Given the description of an element on the screen output the (x, y) to click on. 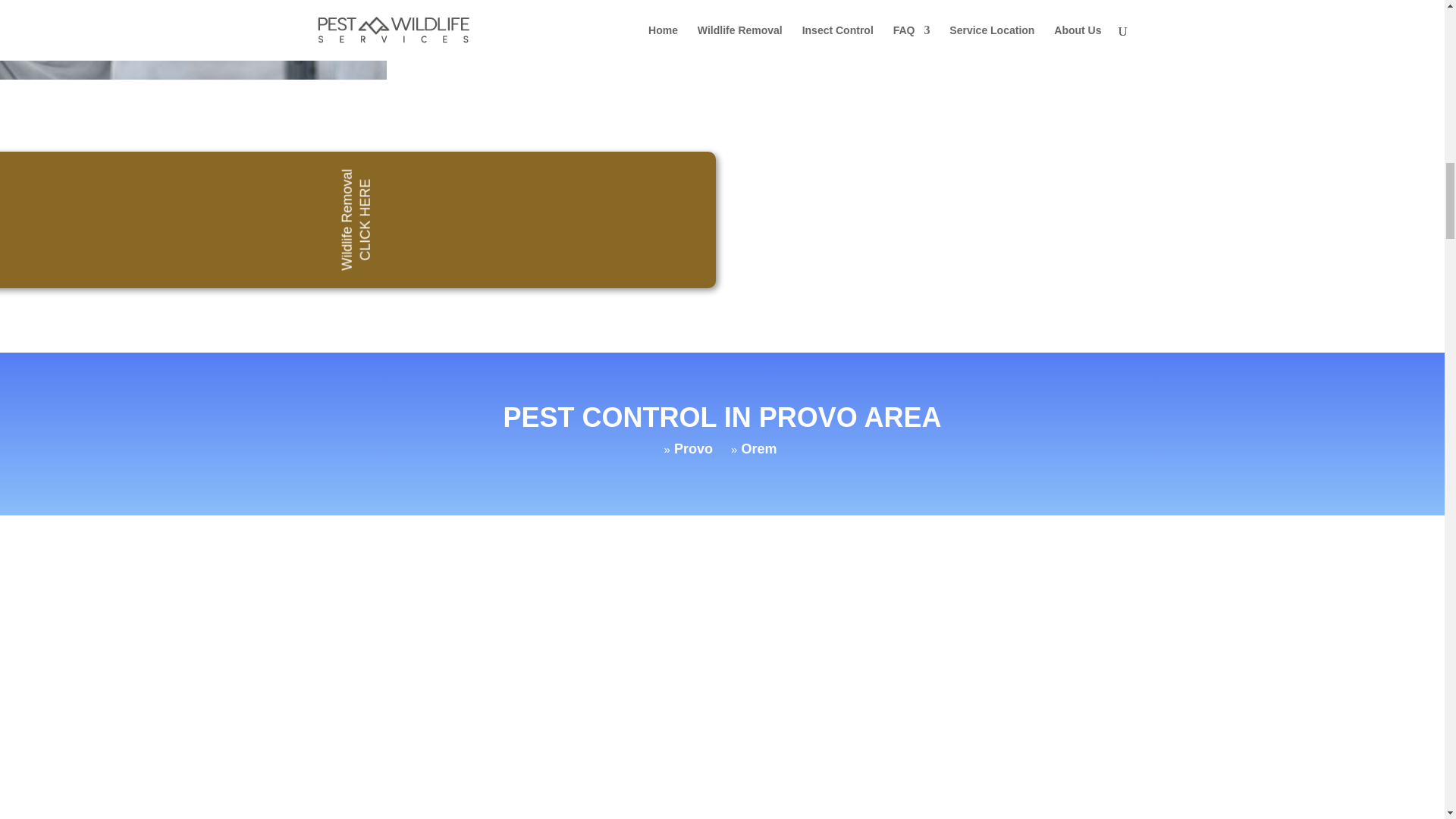
Provo (693, 448)
Orem (758, 448)
